Given the description of an element on the screen output the (x, y) to click on. 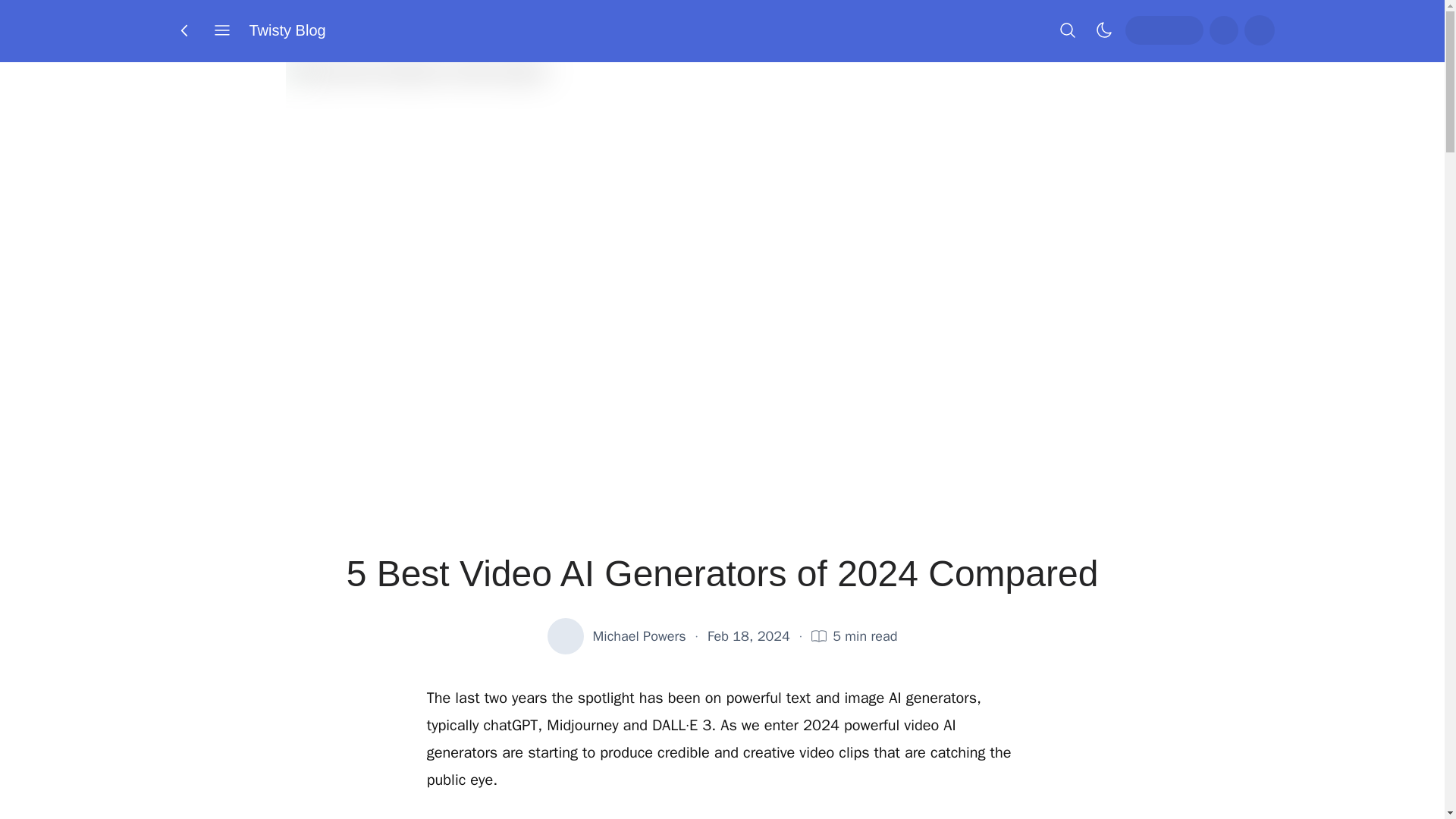
Michael Powers (638, 636)
Twisty Blog (286, 29)
Feb 18, 2024 (748, 636)
